Given the description of an element on the screen output the (x, y) to click on. 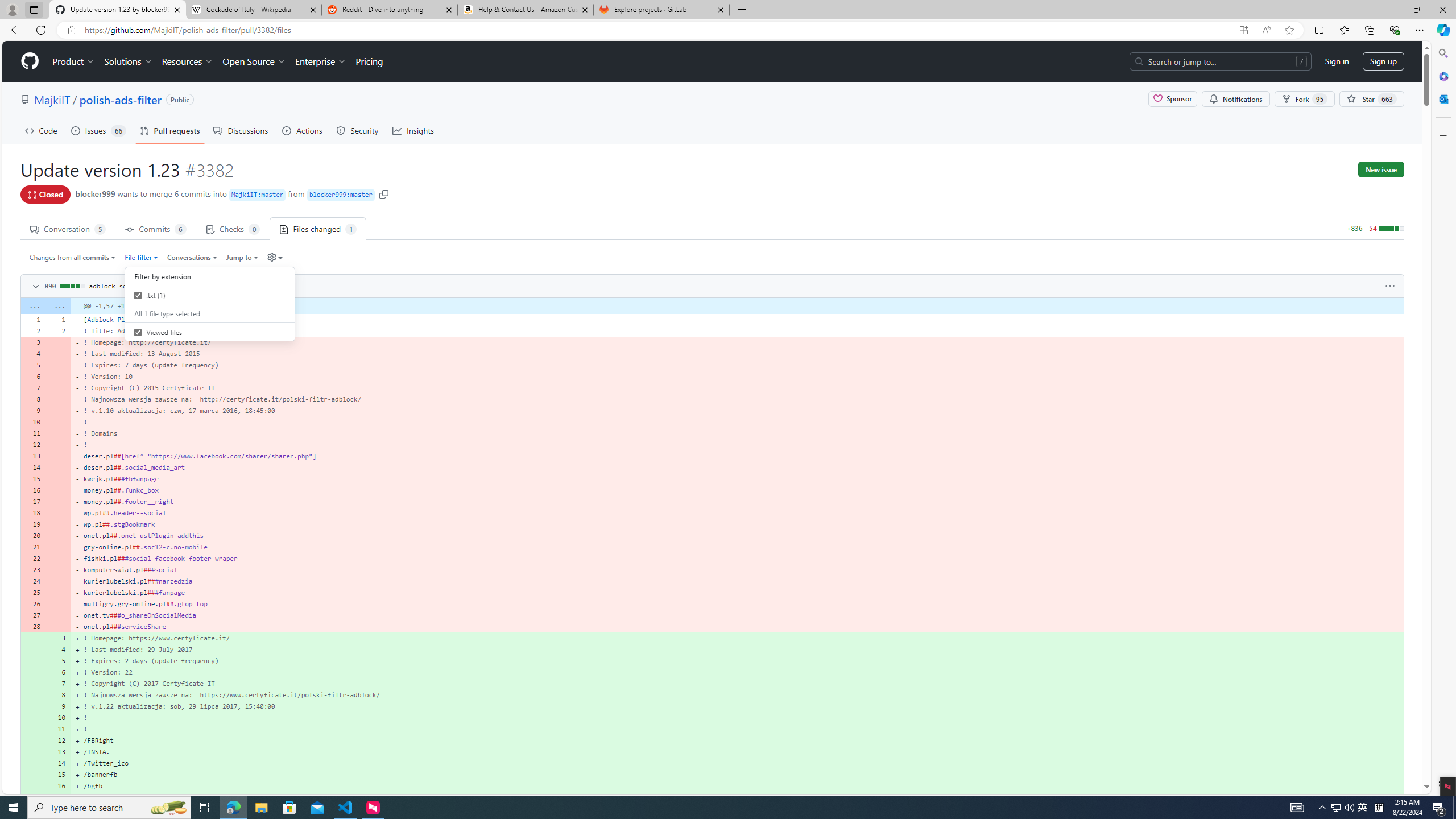
Diff settings (274, 257)
You must be signed in to star a repository (1371, 98)
- ! v.1.10 aktualizacja: czw, 17 marca 2016, 18:45:00  (737, 410)
Discussions (240, 130)
Insights (413, 130)
Class: blob-num blob-num-addition empty-cell (33, 797)
[Adblock Plus 2.0] (737, 319)
Diff settings (271, 256)
Code (41, 130)
Show options (1390, 285)
